Given the description of an element on the screen output the (x, y) to click on. 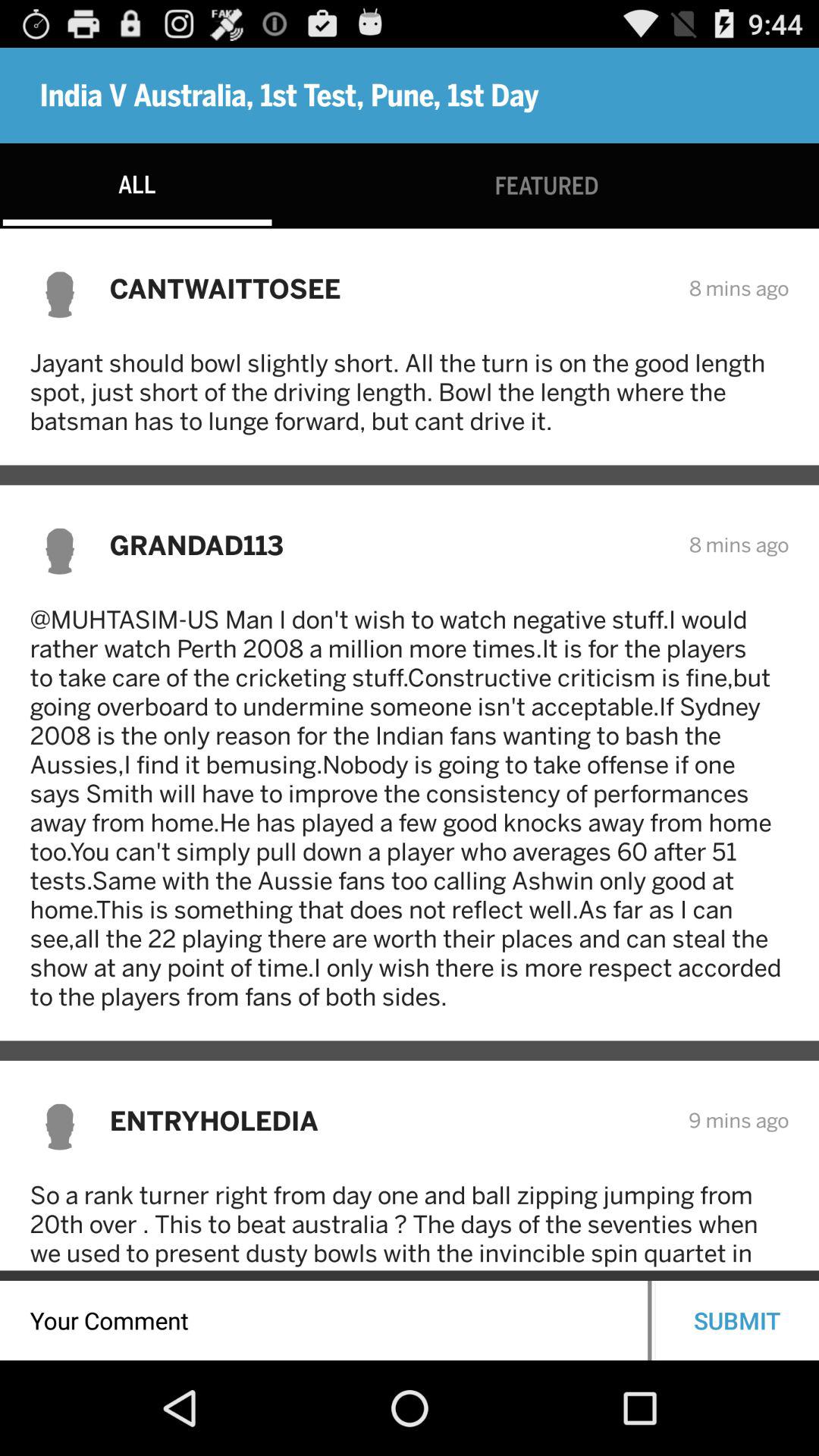
enter a comment (323, 1320)
